Given the description of an element on the screen output the (x, y) to click on. 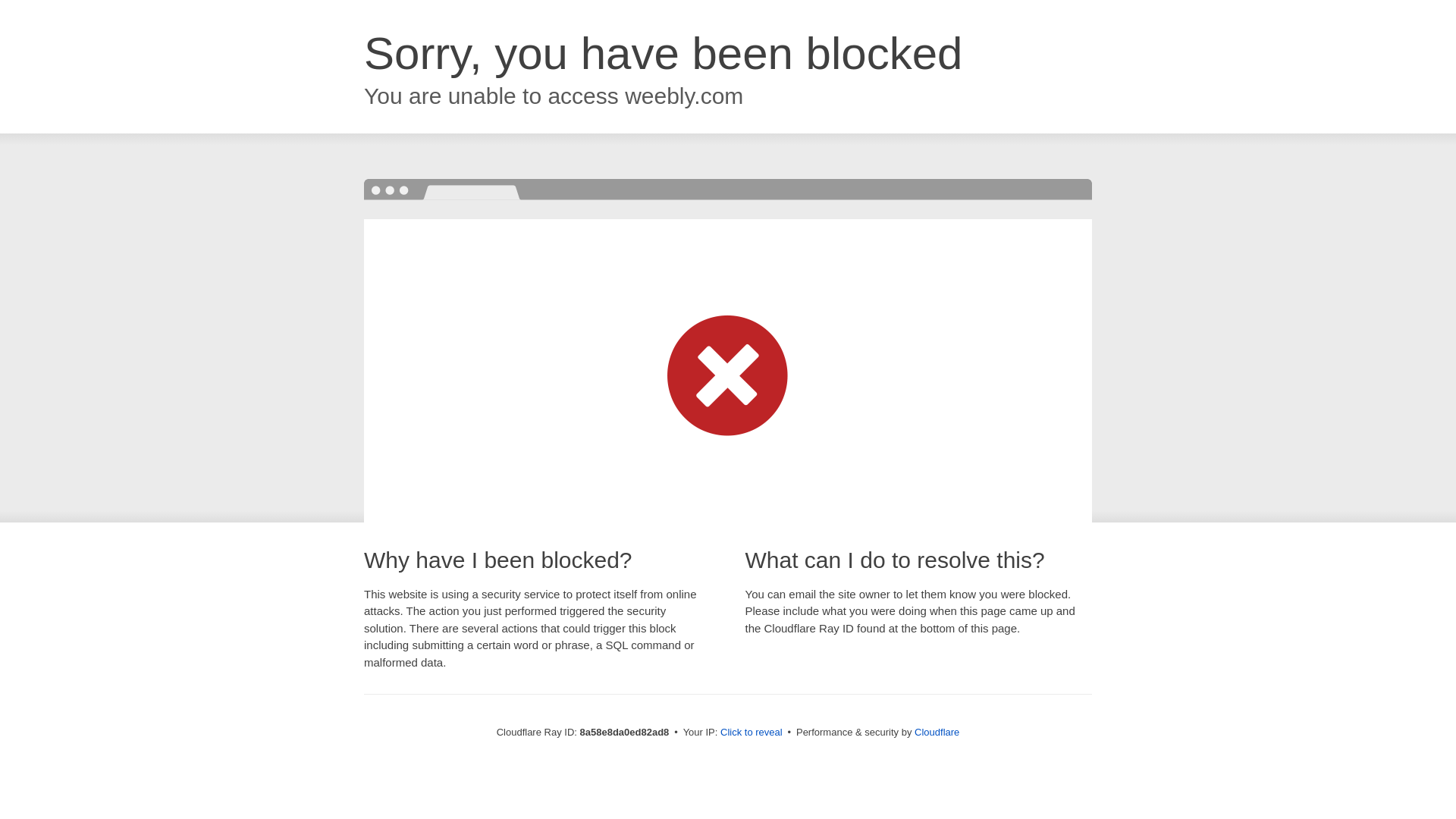
Cloudflare (936, 731)
Click to reveal (751, 732)
